Given the description of an element on the screen output the (x, y) to click on. 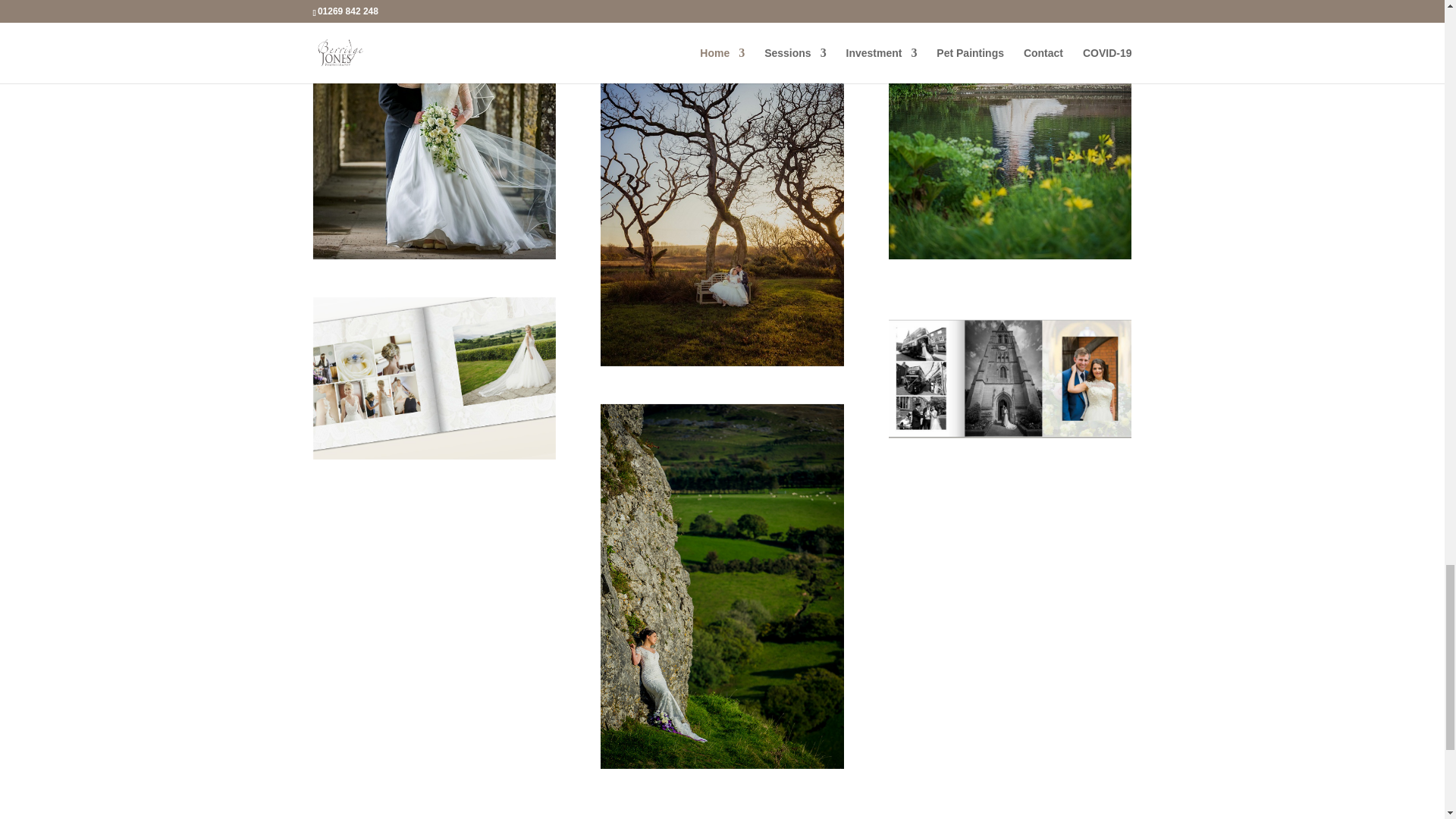
353-MarRai-004 (1009, 129)
01 (433, 378)
WDC11436001-042 (433, 129)
